Given the description of an element on the screen output the (x, y) to click on. 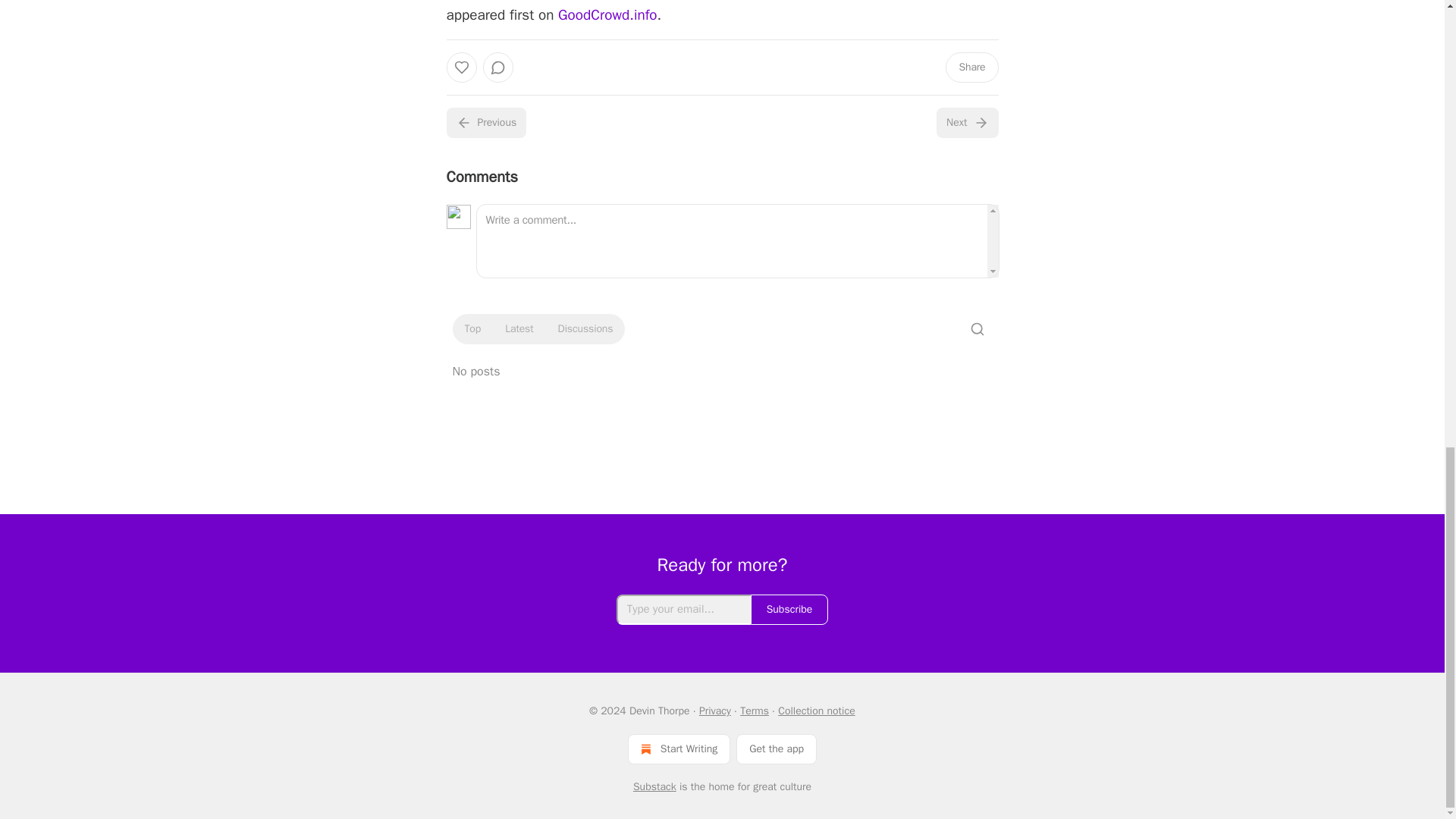
GoodCrowd.info (607, 14)
Share (970, 67)
Previous (485, 122)
Top (471, 328)
Next (966, 122)
